Given the description of an element on the screen output the (x, y) to click on. 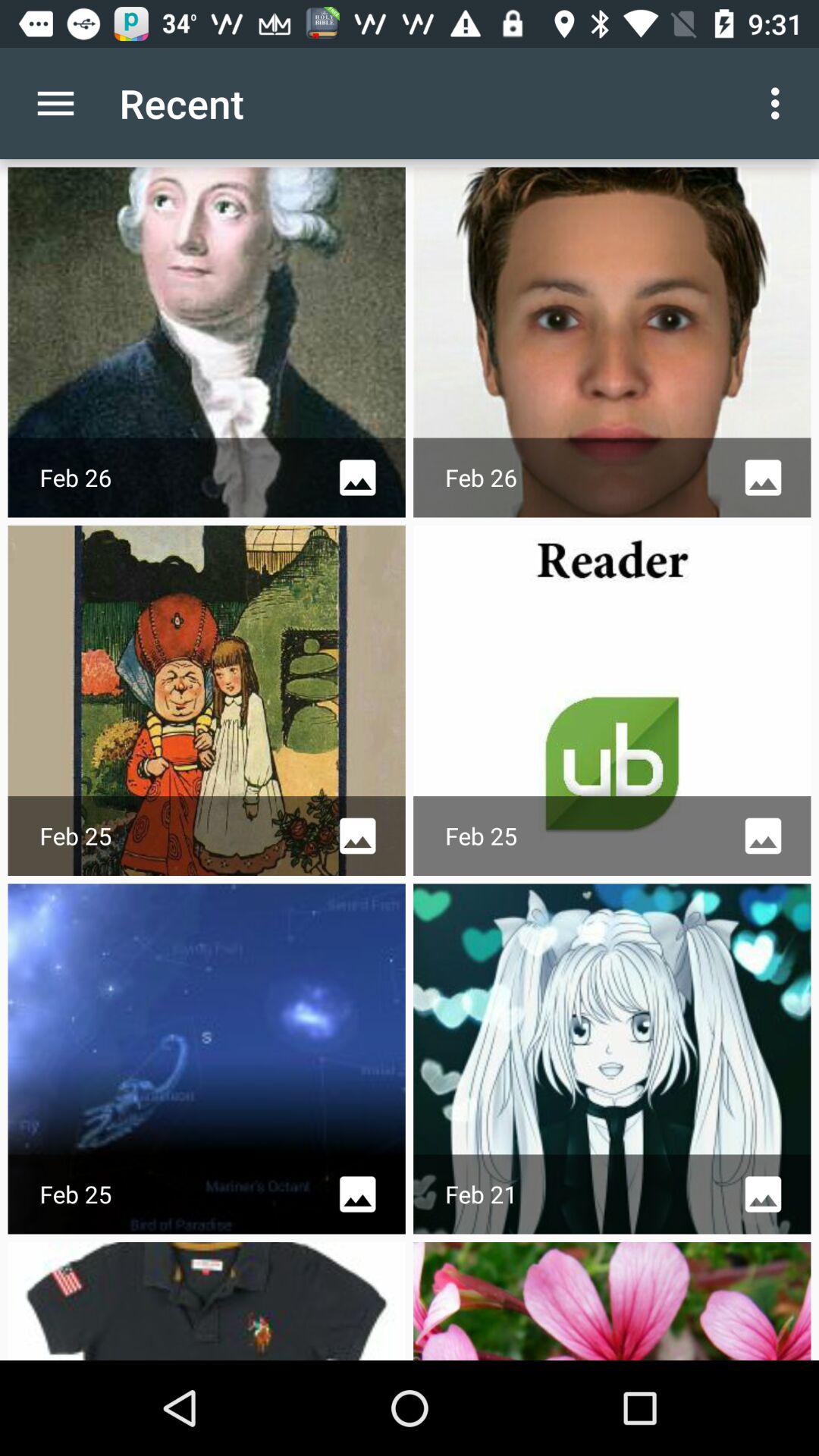
open the item to the right of recent item (779, 103)
